Given the description of an element on the screen output the (x, y) to click on. 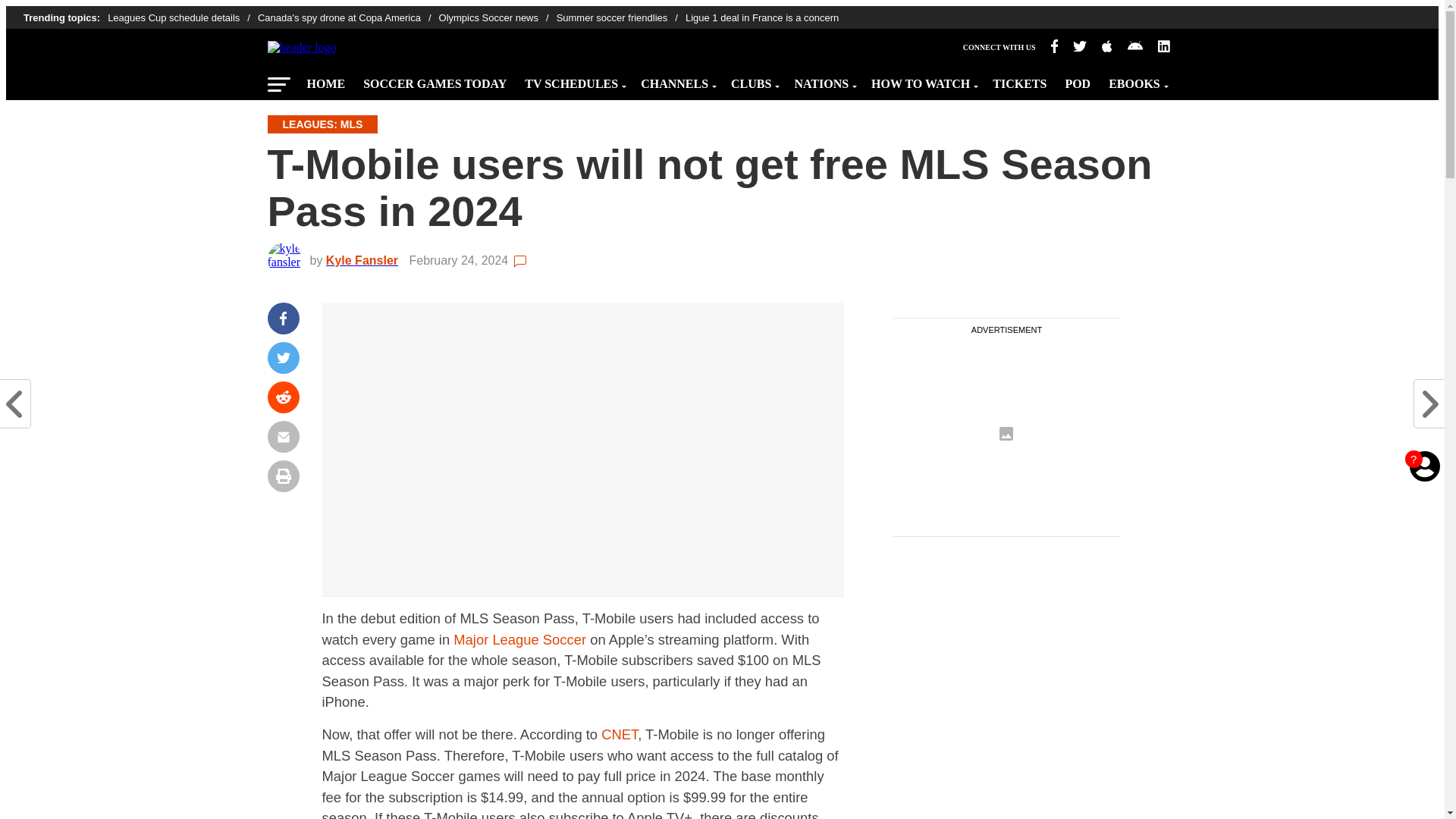
CHANNELS (676, 80)
Canada's spy drone at Copa America (348, 17)
NATIONS (822, 80)
POD (1077, 80)
Kyle Fansler (366, 259)
EBOOKS (1136, 80)
TV SCHEDULES (573, 80)
Olympics Soccer news (497, 17)
Ligue 1 deal in France is a concern (761, 17)
Leagues Cup schedule details (182, 17)
SOCCER GAMES TODAY (434, 80)
HOME (325, 80)
CNET (619, 734)
Summer soccer friendlies (620, 17)
HOW TO WATCH (922, 80)
